Given the description of an element on the screen output the (x, y) to click on. 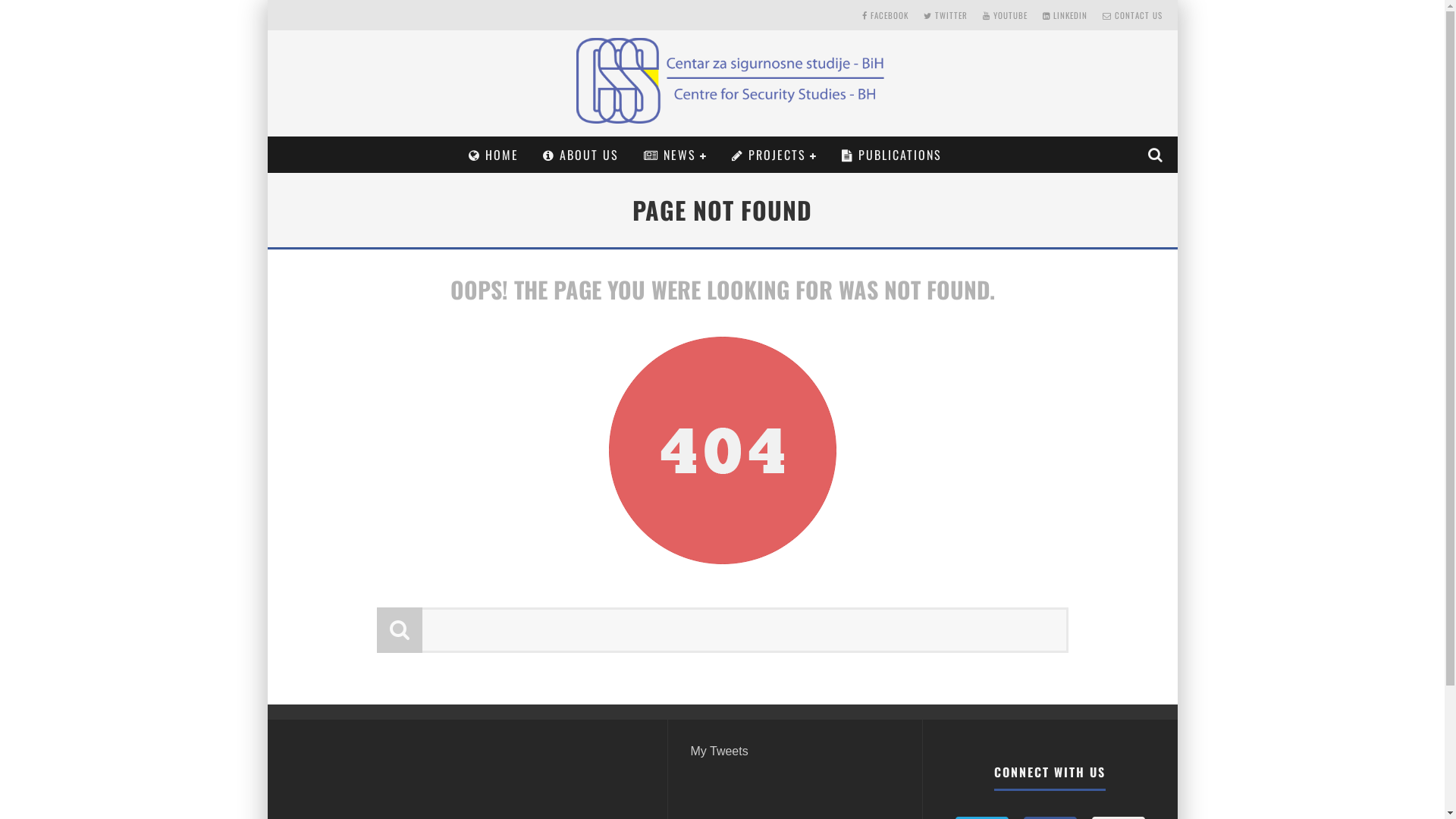
My Tweets Element type: text (718, 750)
PROJECTS Element type: text (774, 154)
TWITTER Element type: text (945, 15)
CONTACT US Element type: text (1132, 15)
ABOUT US Element type: text (580, 154)
YOUTUBE Element type: text (1005, 15)
PUBLICATIONS Element type: text (891, 154)
HOME Element type: text (493, 154)
FACEBOOK Element type: text (884, 15)
NEWS Element type: text (675, 154)
LINKEDIN Element type: text (1064, 15)
